Given the description of an element on the screen output the (x, y) to click on. 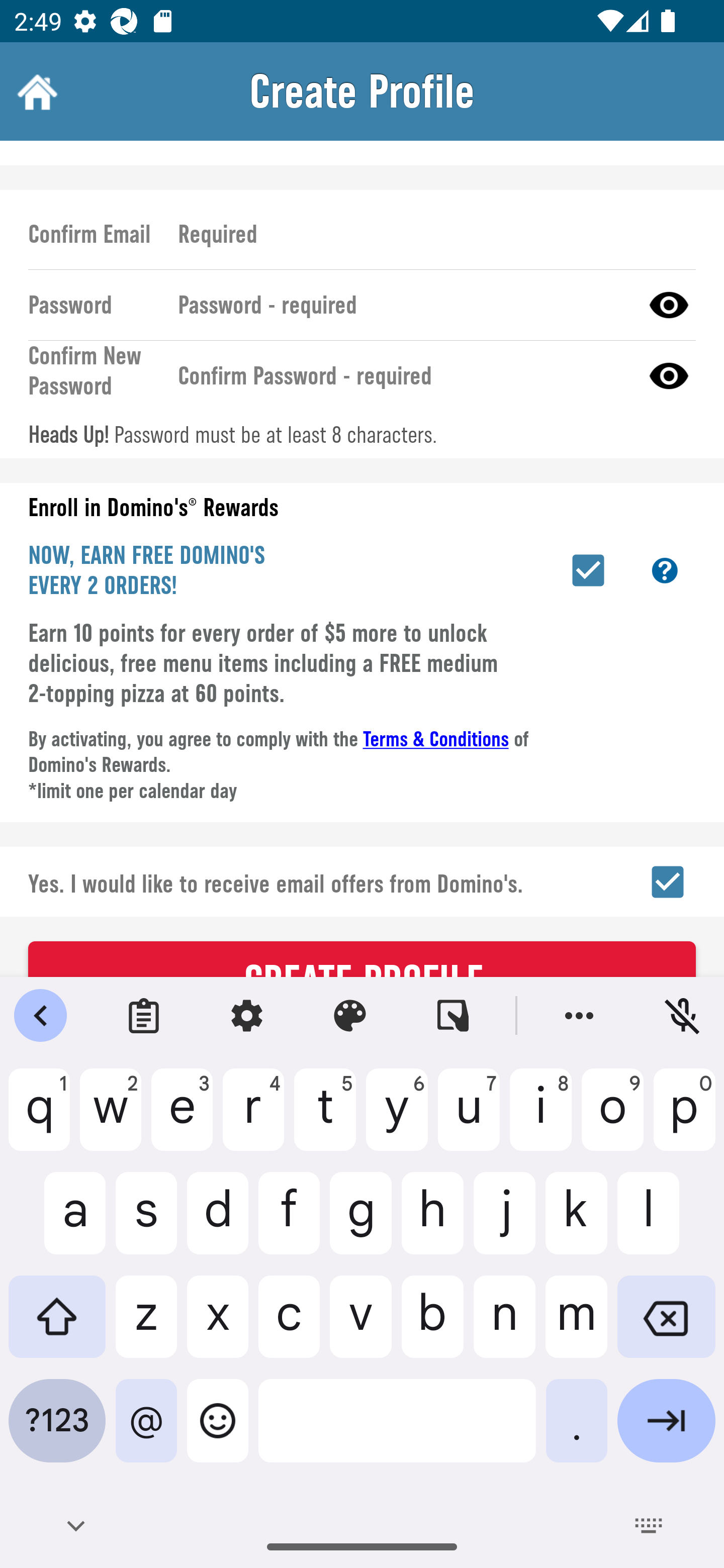
Home (35, 91)
Required Confirm Email Address (427, 234)
Password - required (401, 304)
Show Password (668, 304)
Confirm Password - required (401, 375)
Show Password (668, 375)
Enroll in Piece of the Pie Rewards (588, 570)
